Given the description of an element on the screen output the (x, y) to click on. 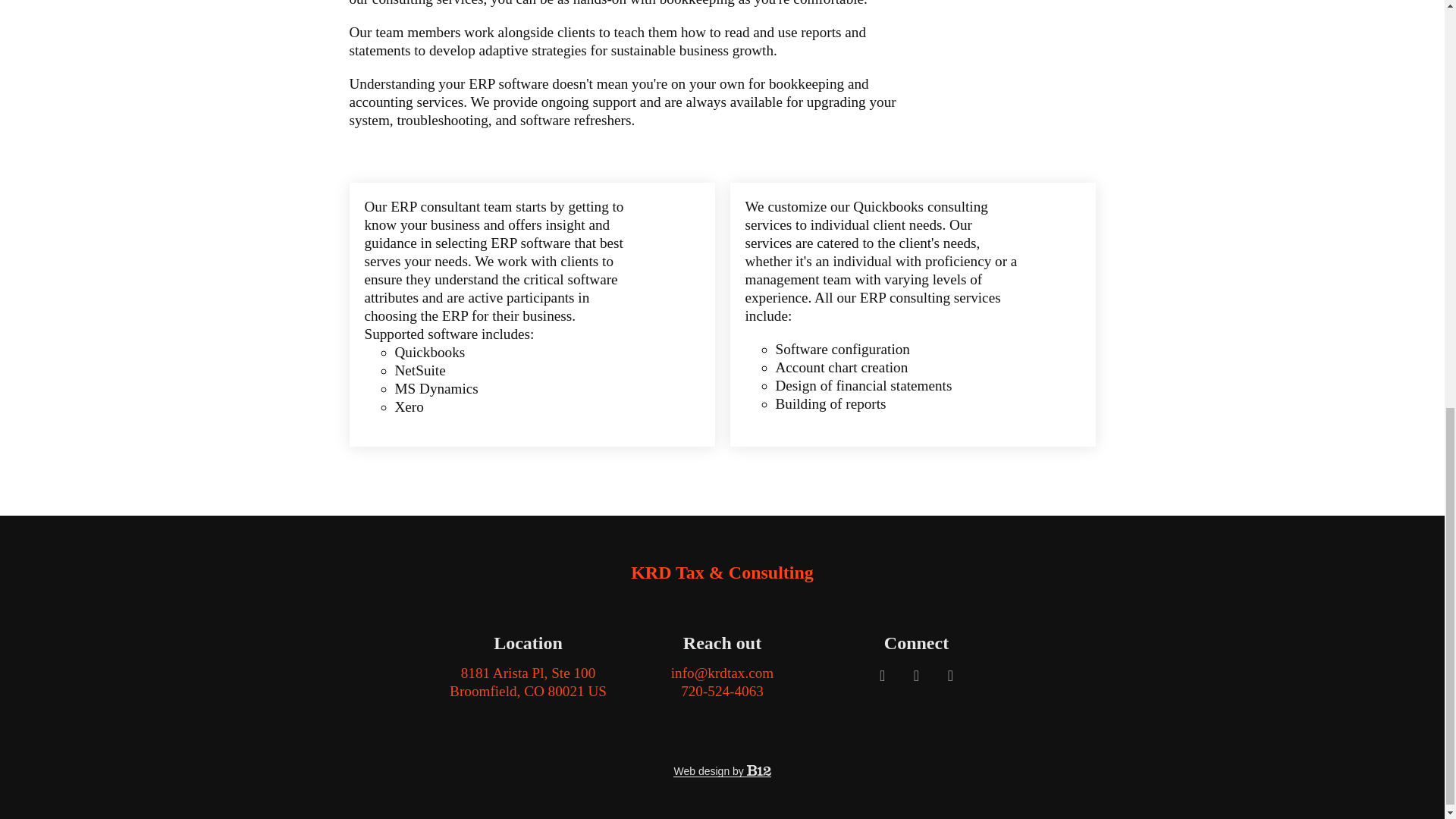
Web design by (721, 770)
720-524-4063 (528, 682)
